Given the description of an element on the screen output the (x, y) to click on. 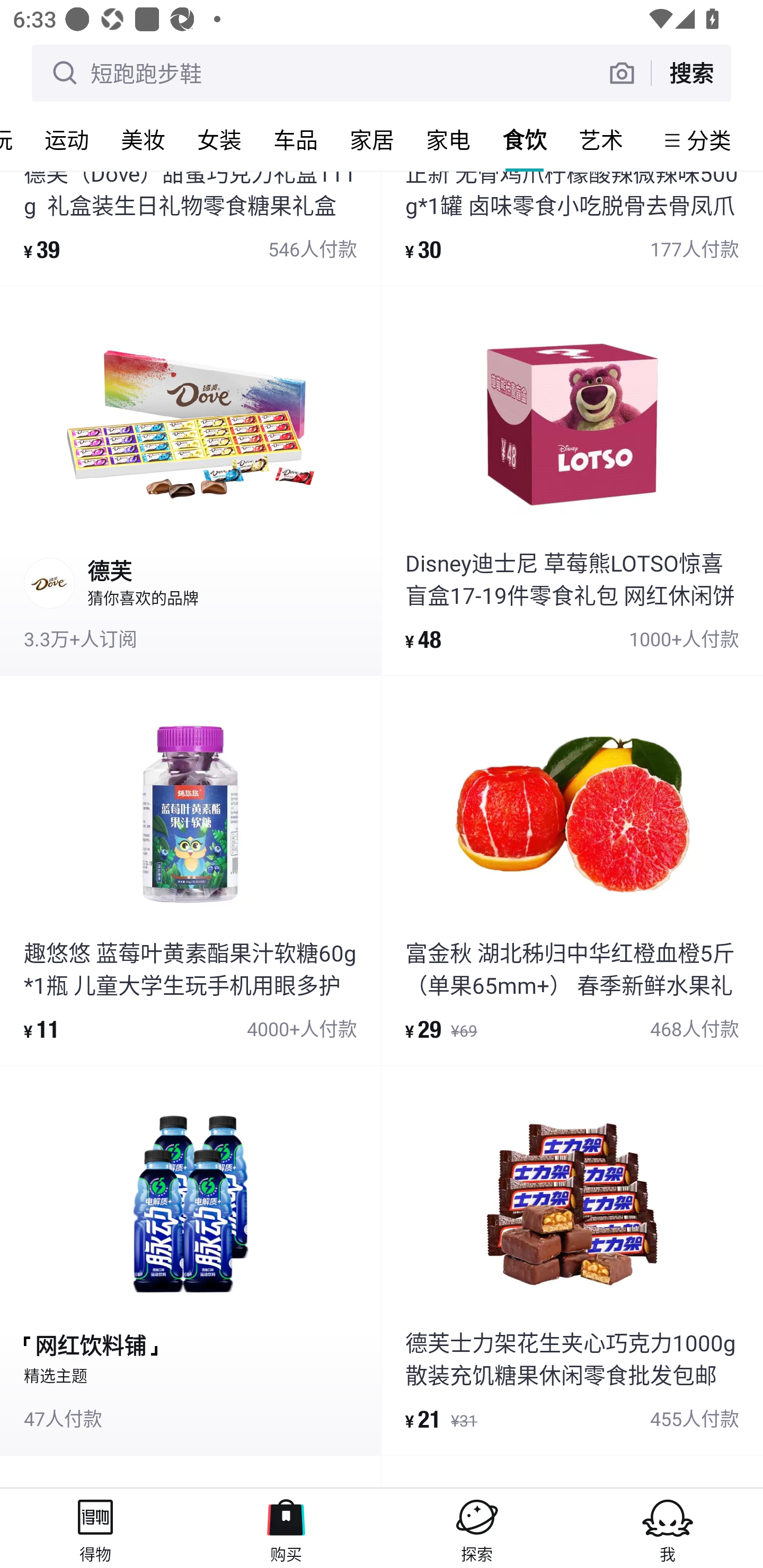
搜索 (690, 72)
运动 (66, 139)
美妆 (143, 139)
女装 (219, 139)
车品 (295, 139)
家居 (372, 139)
家电 (448, 139)
食饮 (524, 139)
艺术 (601, 139)
分类 (708, 139)
德芙 猜你喜欢的品牌 3.3万+人订阅 (190, 480)
网红饮料铺 精选主题 47人付款 (190, 1260)
得物 (95, 1528)
购买 (285, 1528)
探索 (476, 1528)
我 (667, 1528)
